Given the description of an element on the screen output the (x, y) to click on. 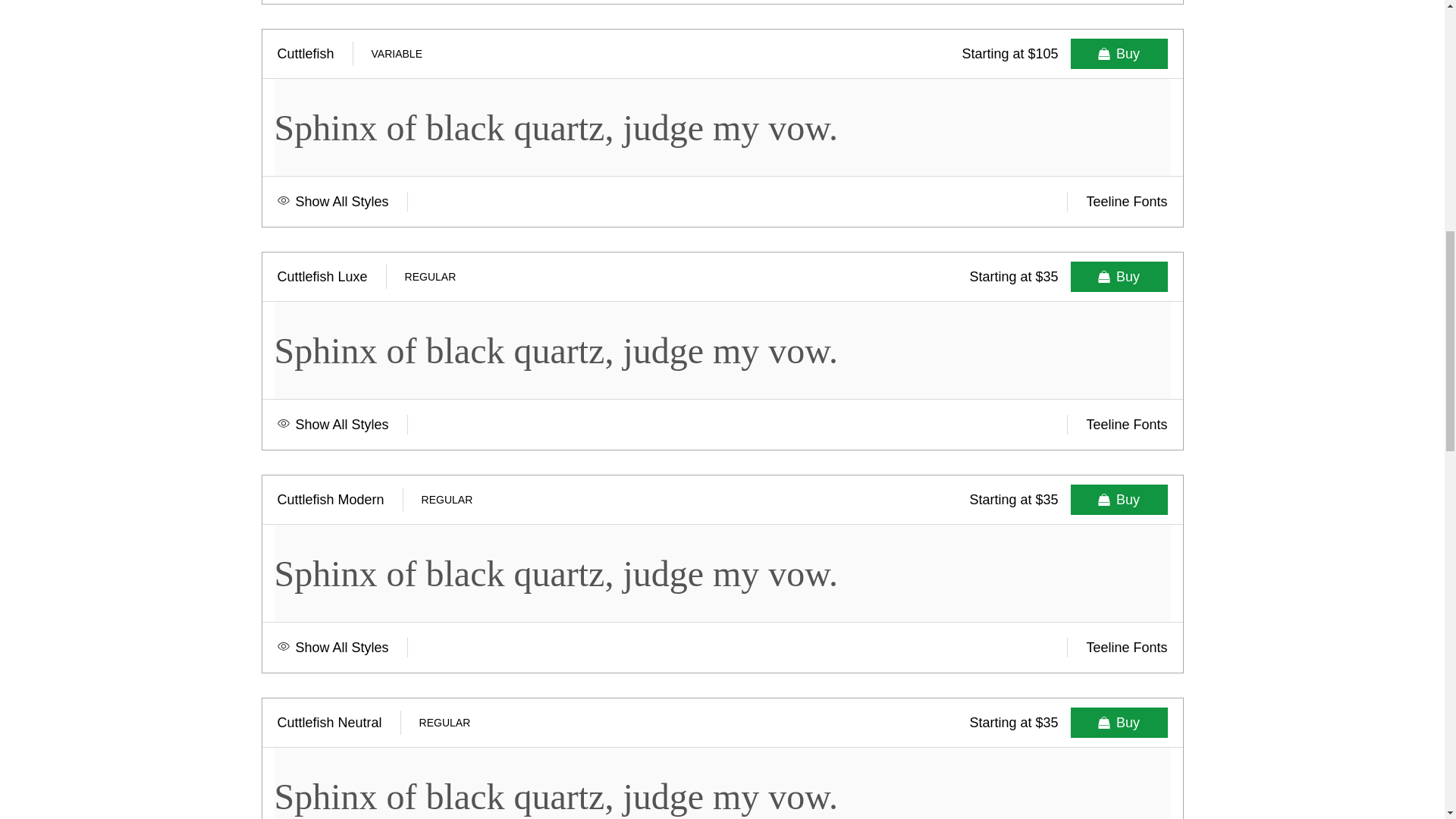
Cuttlefish (312, 53)
EyeOn Icon (283, 425)
Teeline Fonts (1117, 201)
Buy (1118, 53)
Teeline Fonts (1117, 424)
Buy (1118, 276)
Sphinx of black quartz, judge my vow. (722, 127)
EyeOn IconShow All Styles (342, 647)
Sphinx of black quartz, judge my vow. (722, 783)
Sphinx of black quartz, judge my vow. (722, 572)
EyeOn IconShow All Styles (342, 424)
EyeOn Icon (283, 648)
EyeOn IconShow All Styles (342, 201)
Cuttlefish Luxe (329, 276)
Buy (1118, 722)
